Given the description of an element on the screen output the (x, y) to click on. 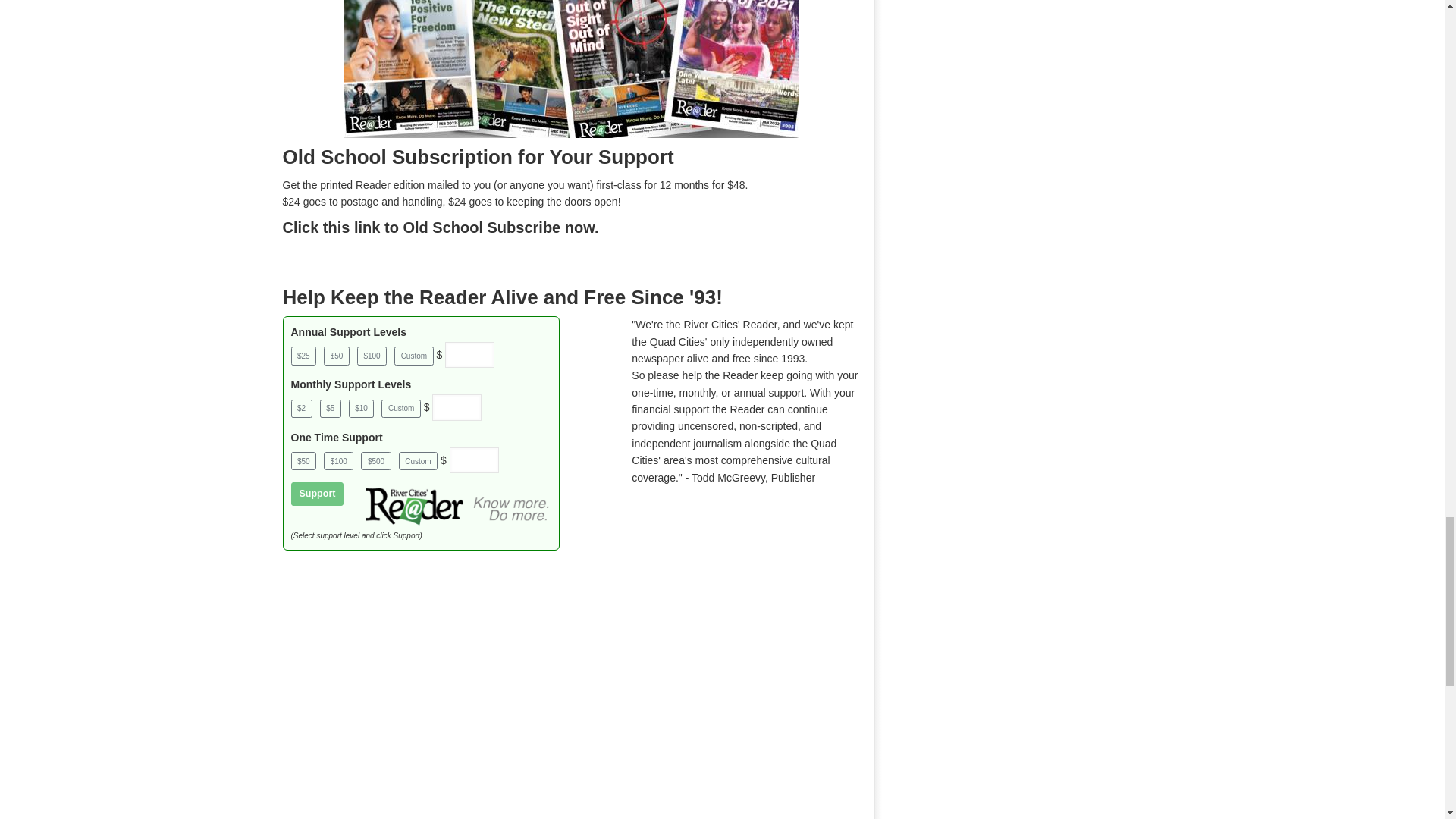
this link to Old School Subscribe now (458, 227)
